Given the description of an element on the screen output the (x, y) to click on. 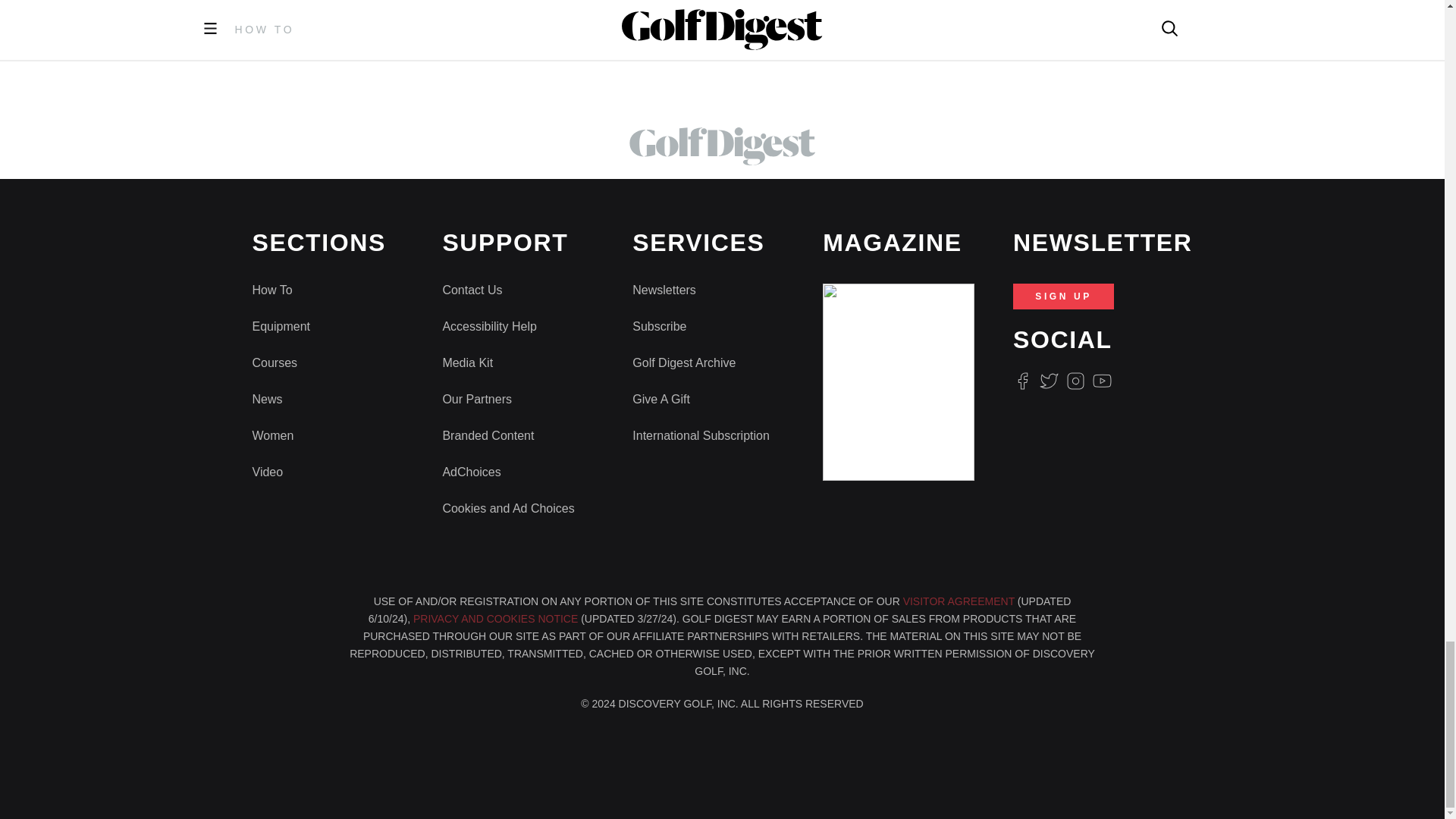
Twitter Logo (1048, 380)
Youtube Icon (1102, 380)
Instagram Logo (1074, 380)
Facebook Logo (1022, 380)
